Given the description of an element on the screen output the (x, y) to click on. 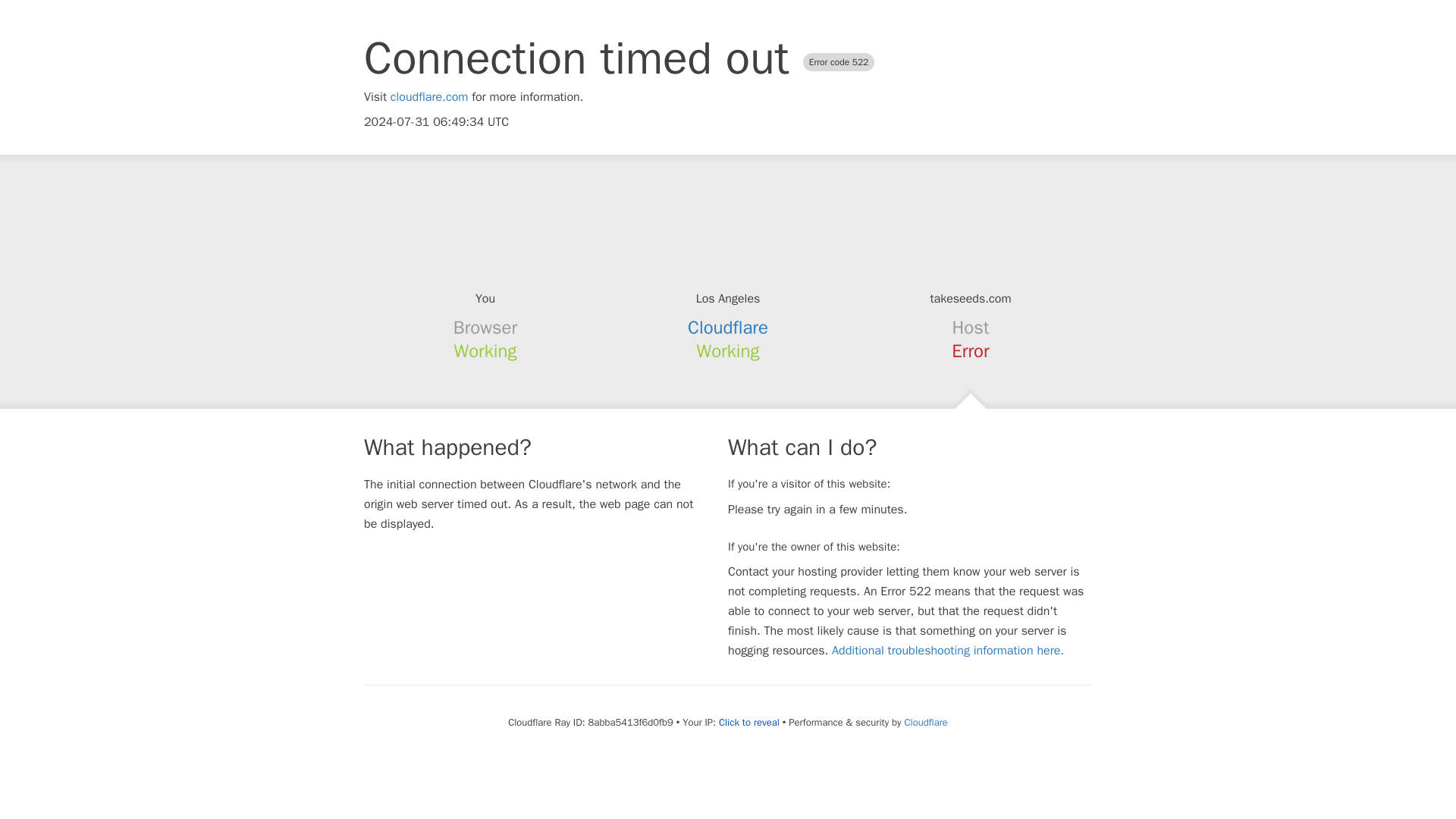
cloudflare.com (429, 96)
Cloudflare (727, 327)
Additional troubleshooting information here. (947, 650)
Cloudflare (925, 721)
Click to reveal (748, 722)
